Given the description of an element on the screen output the (x, y) to click on. 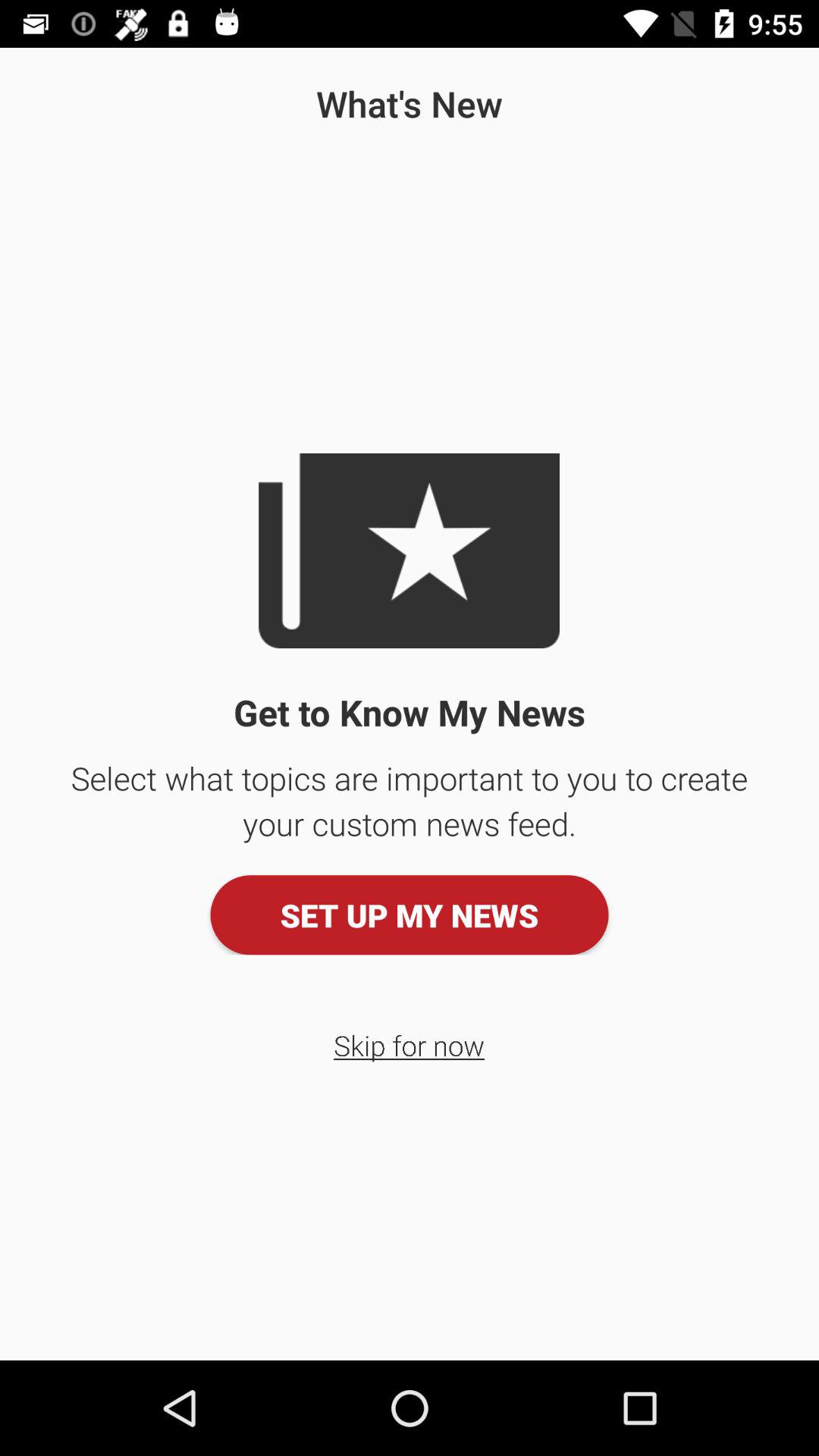
turn off button below set up my icon (409, 1044)
